Given the description of an element on the screen output the (x, y) to click on. 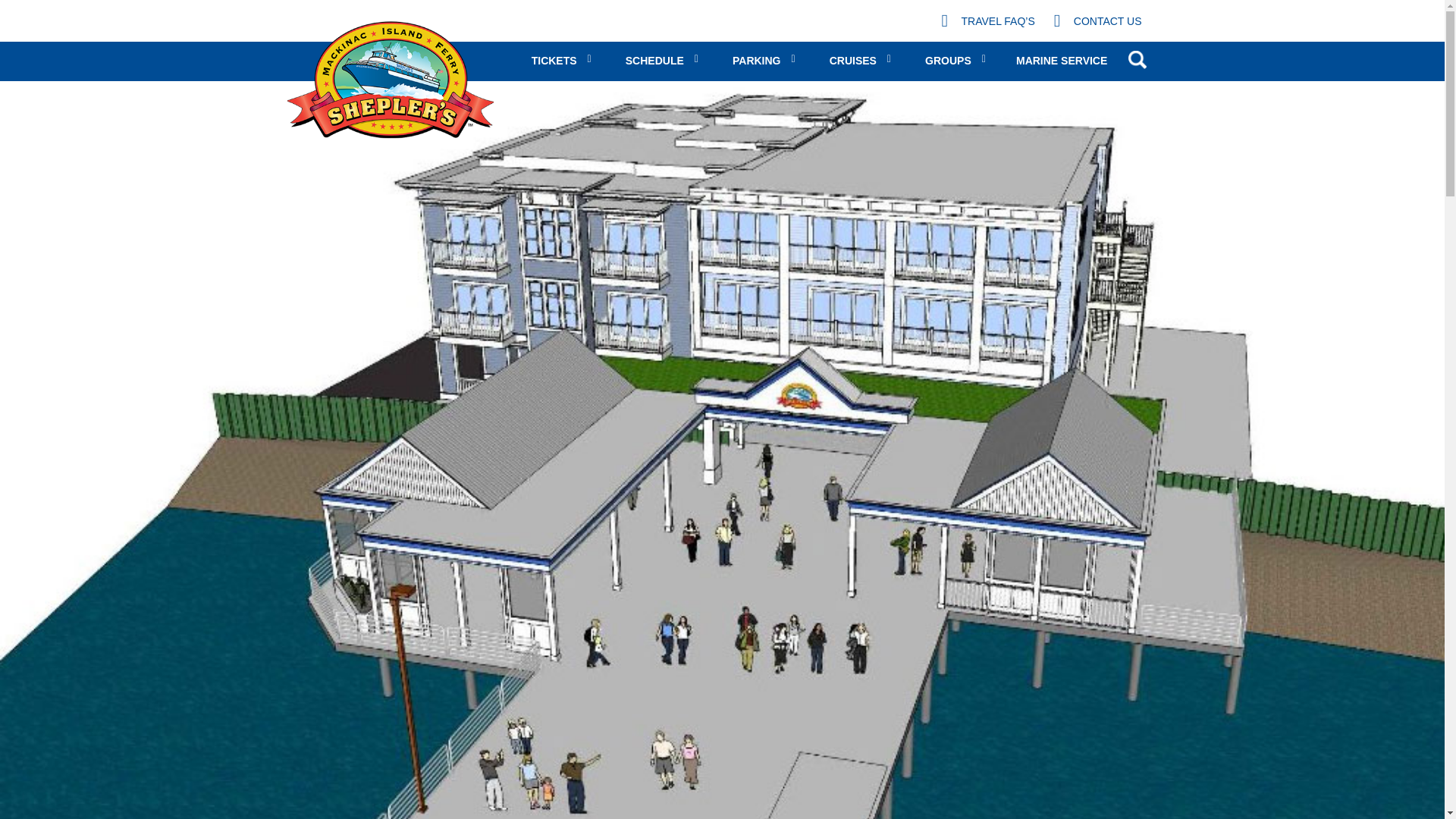
CONTACT US (1097, 21)
TICKETS (562, 61)
Shepler's Ferry (389, 79)
